Given the description of an element on the screen output the (x, y) to click on. 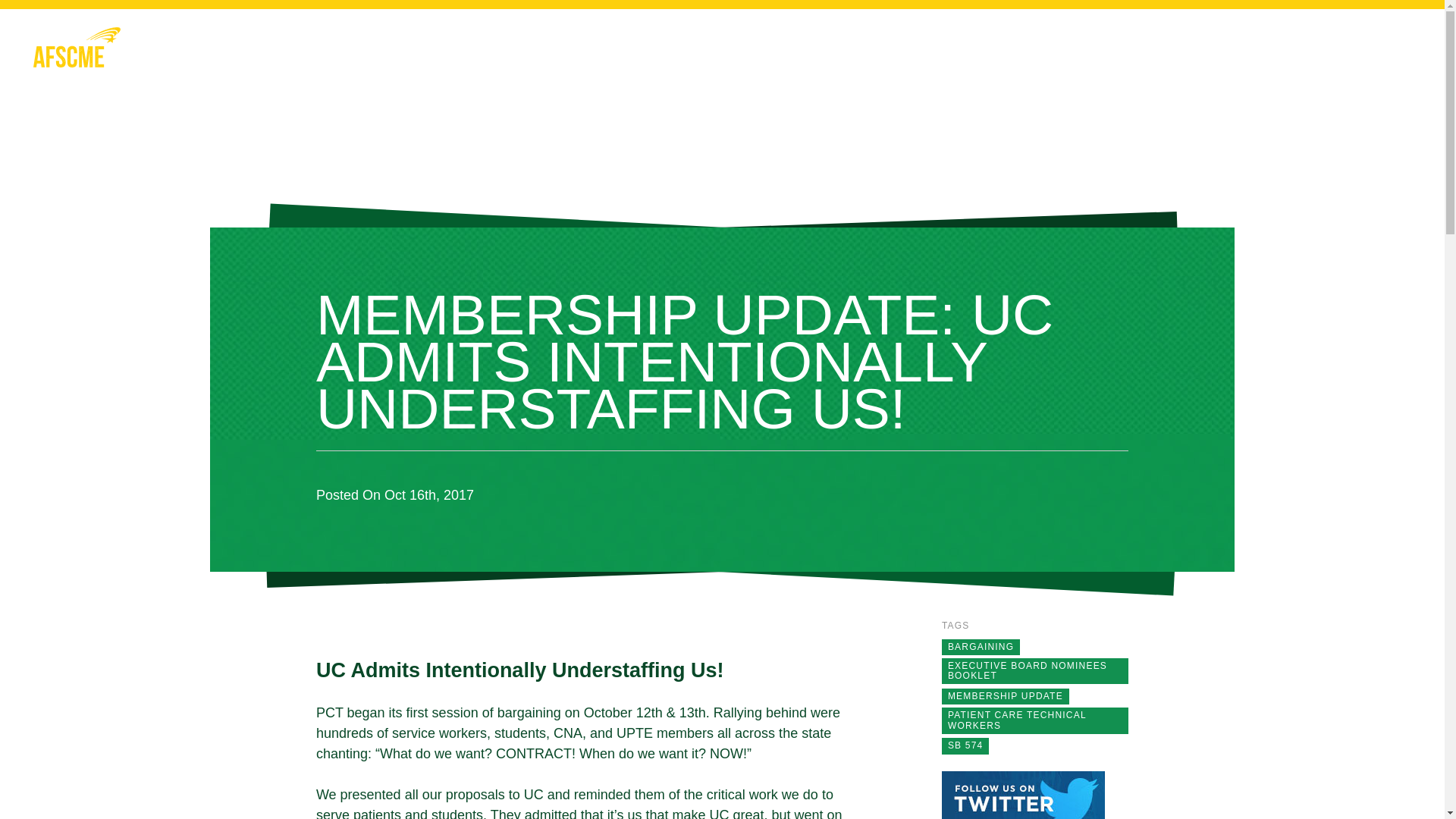
BARGAINING (980, 646)
CAREERS (1243, 55)
MEMBERSHIP UPDATE (1004, 696)
GET INVOLVED (758, 55)
CONTACT US (1351, 55)
NEWS (1160, 55)
WHO WE ARE (885, 55)
EXECUTIVE BOARD NOMINEES BOOKLET (1026, 670)
PATIENT CARE TECHNICAL WORKERS (1016, 720)
KNOW YOUR RIGHTS (1037, 55)
